Given the description of an element on the screen output the (x, y) to click on. 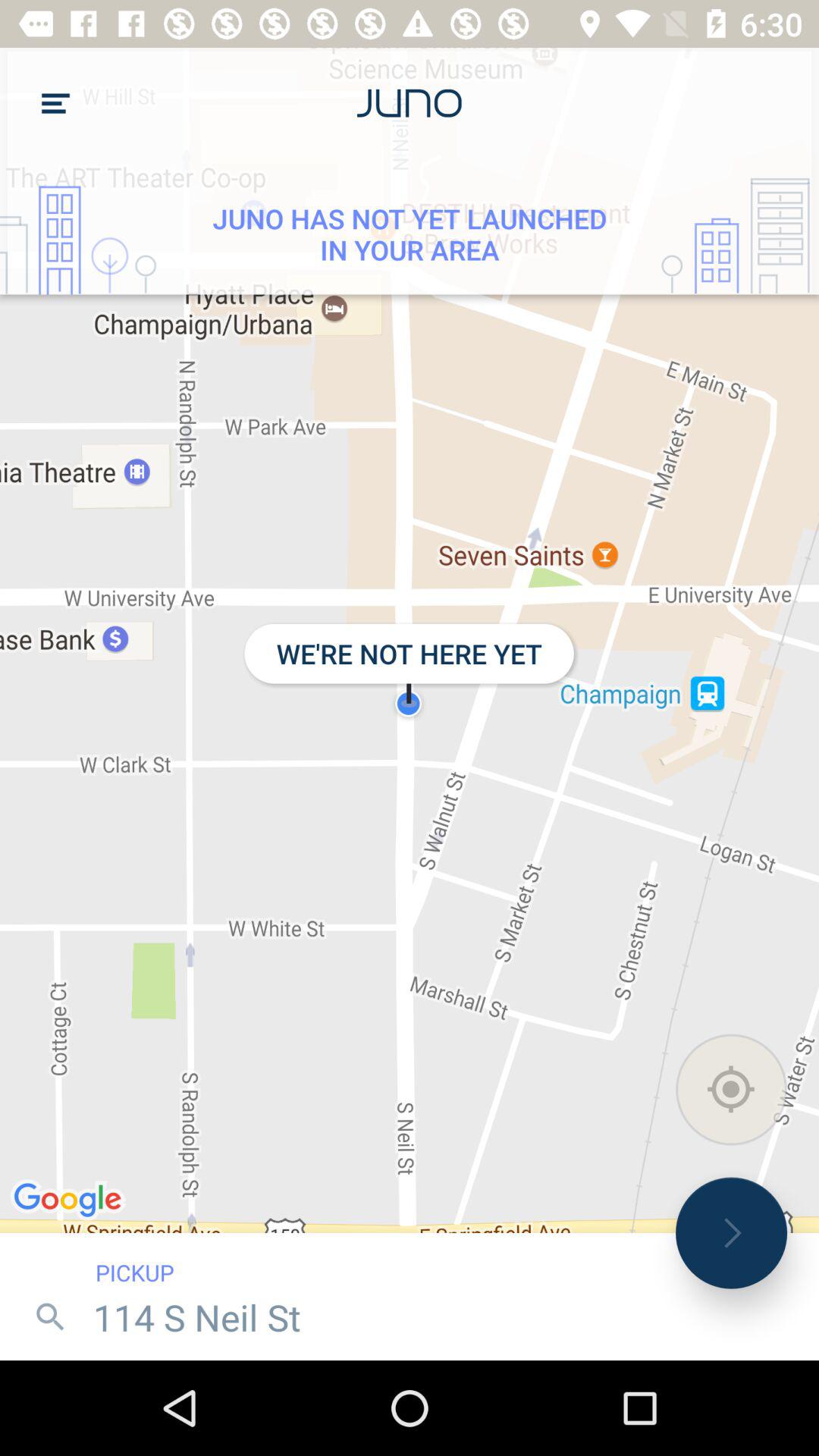
open icon next to pickup (731, 1232)
